Given the description of an element on the screen output the (x, y) to click on. 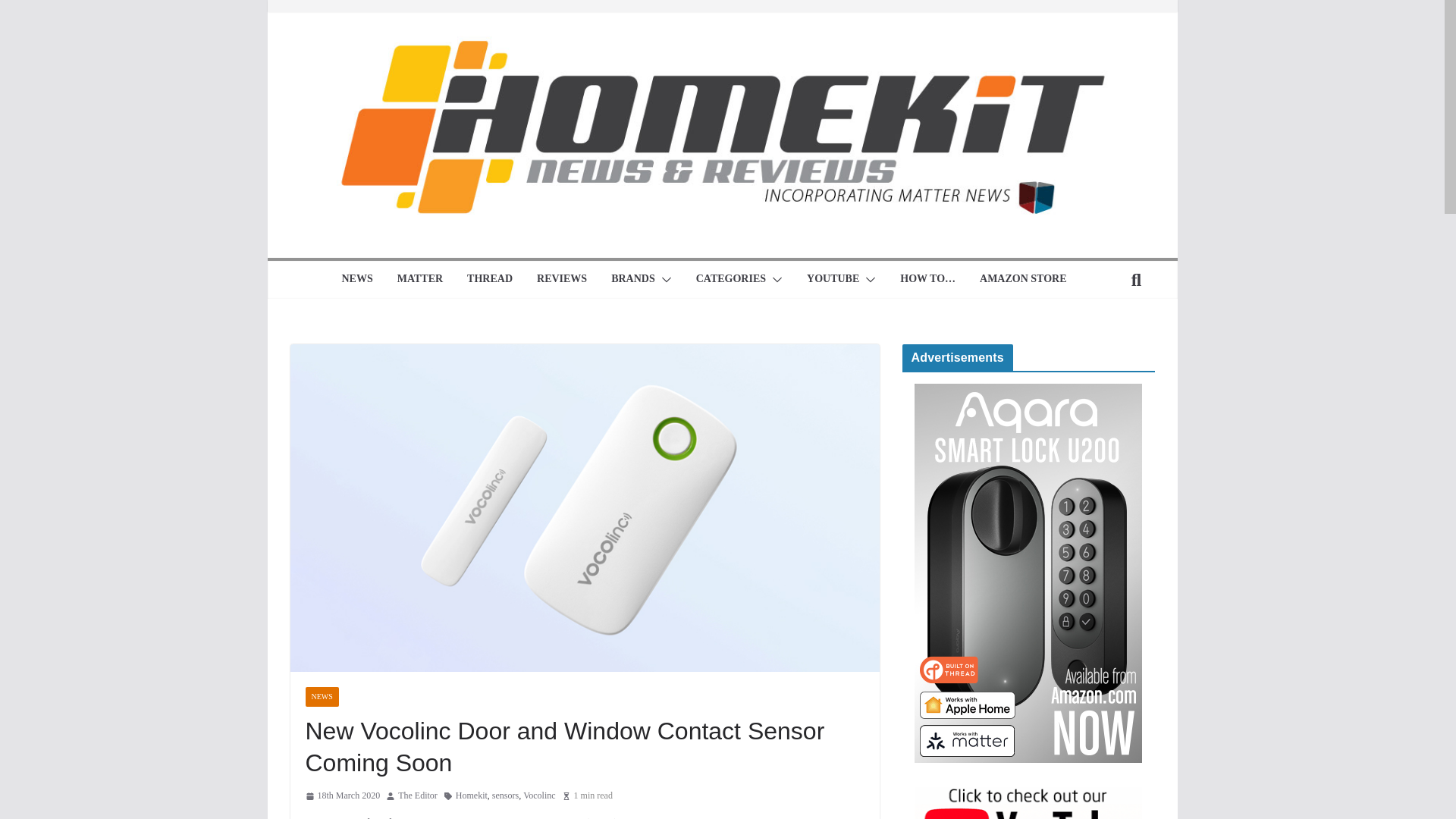
The Editor (417, 795)
REVIEWS (561, 279)
NEWS (356, 279)
MATTER (419, 279)
BRANDS (633, 279)
10:52 am (342, 795)
THREAD (489, 279)
